Given the description of an element on the screen output the (x, y) to click on. 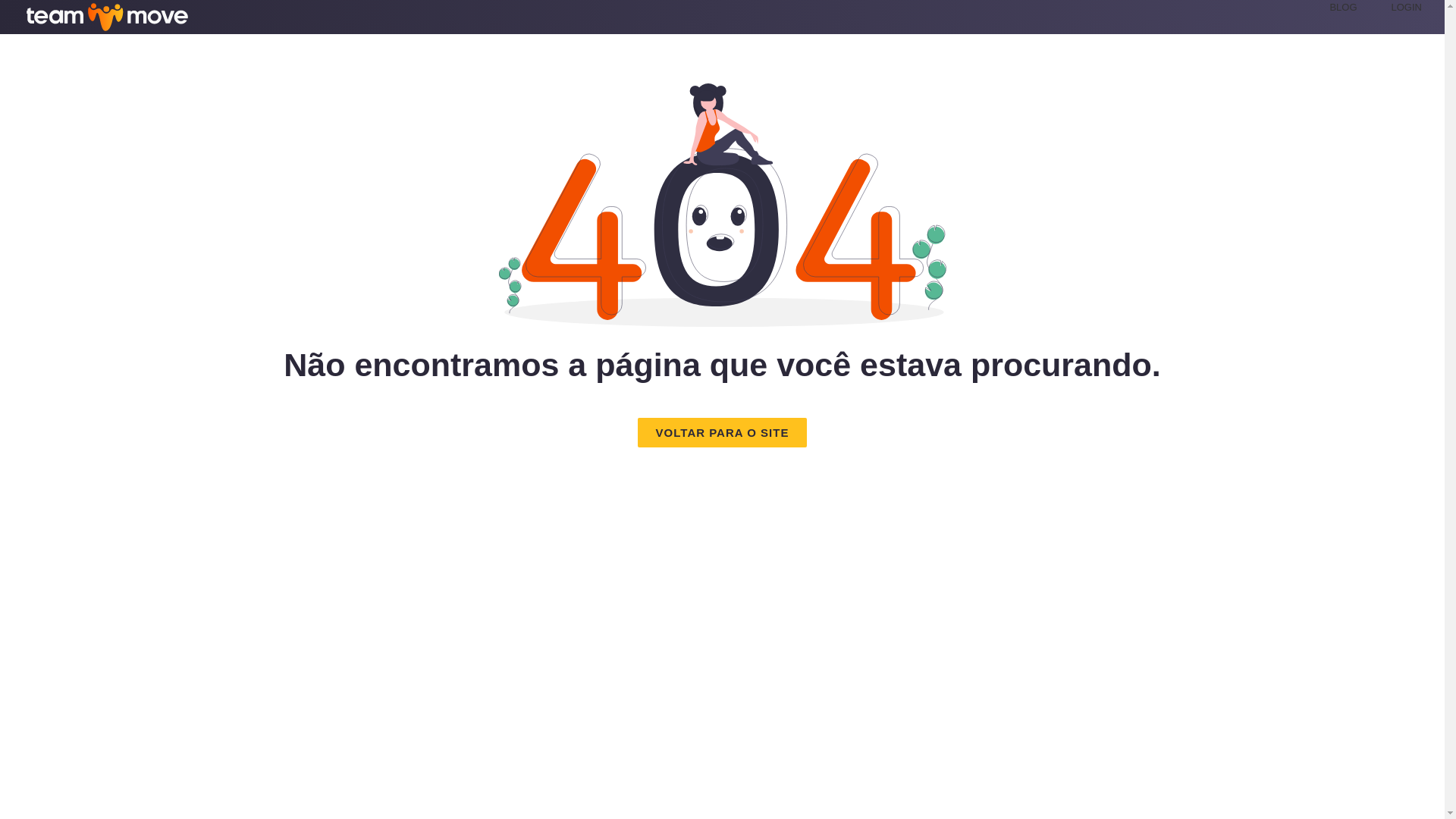
LOGIN (1406, 7)
VOLTAR PARA O SITE (722, 432)
BLOG (1342, 7)
